Given the description of an element on the screen output the (x, y) to click on. 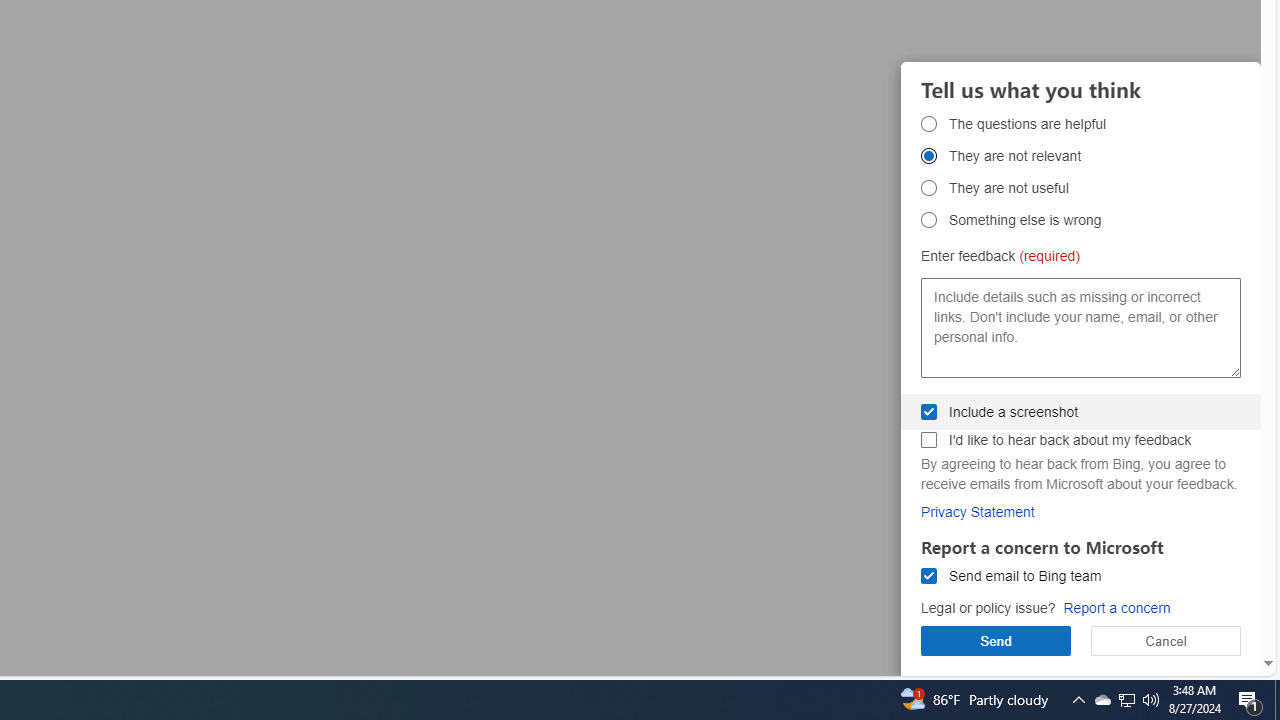
They are not relevant They are not relevant (928, 156)
AutomationID: fbpgdgSmtngWrong (928, 219)
AutomationID: fbpgdgcmchk (928, 439)
AutomationID: fbpgdgsat (928, 123)
They are not useful They are not useful (928, 187)
Cancel (1165, 640)
Include a screenshot Include a screenshot (928, 411)
The questions are helpful The questions are helpful (928, 123)
AutomationID: fbpgdgnotrel (928, 156)
AutomationID: fbpgdgml (928, 575)
Send email to Bing team Send email to Bing team (928, 575)
Privacy Statement (978, 511)
Send (996, 640)
